Given the description of an element on the screen output the (x, y) to click on. 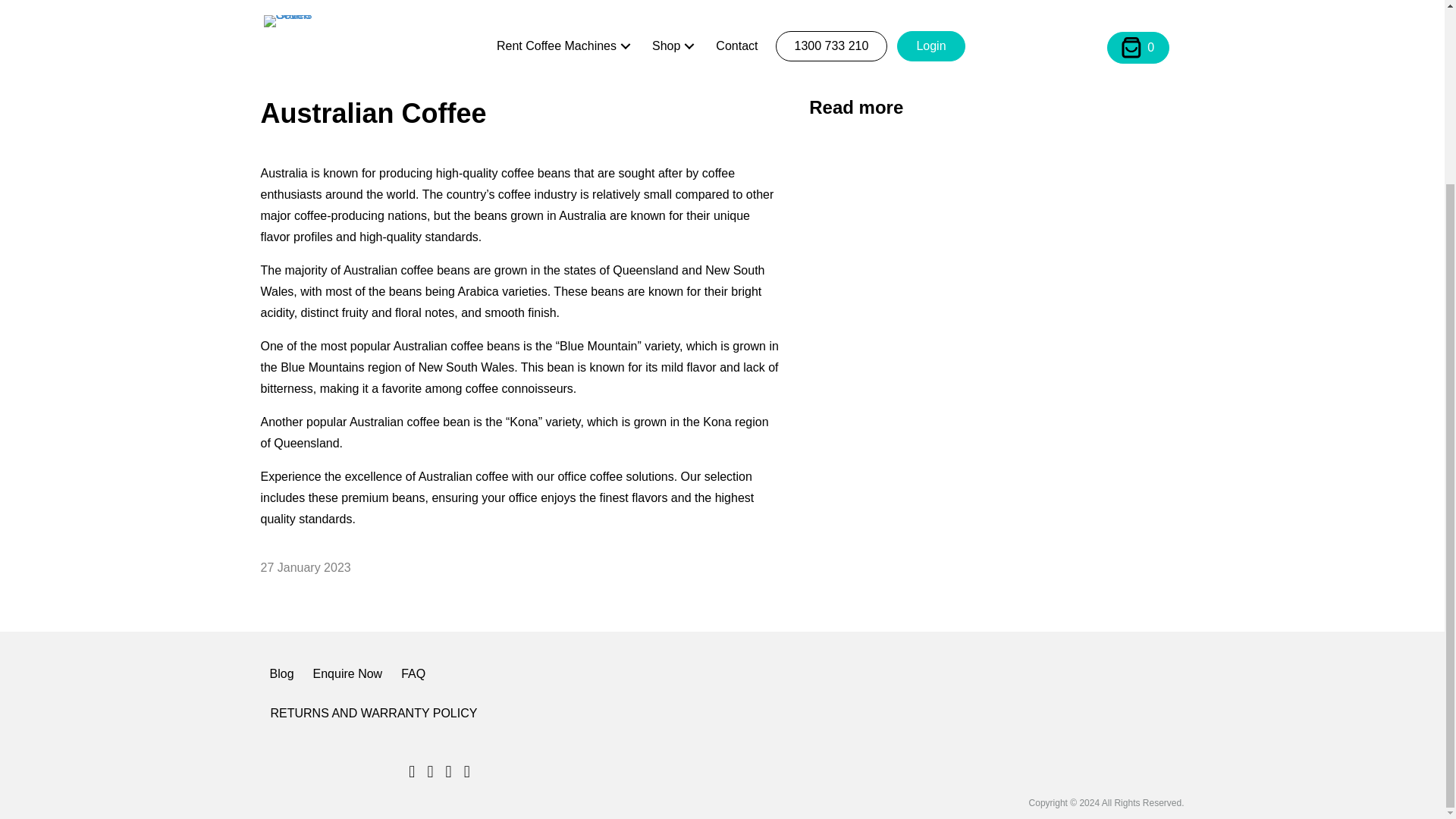
Twitter (467, 771)
FAQ (412, 673)
Instagram (448, 771)
Blog (281, 673)
RETURNS AND WARRANTY POLICY (373, 713)
Facebook (429, 771)
Youtube (411, 771)
Enquire Now (347, 673)
